Given the description of an element on the screen output the (x, y) to click on. 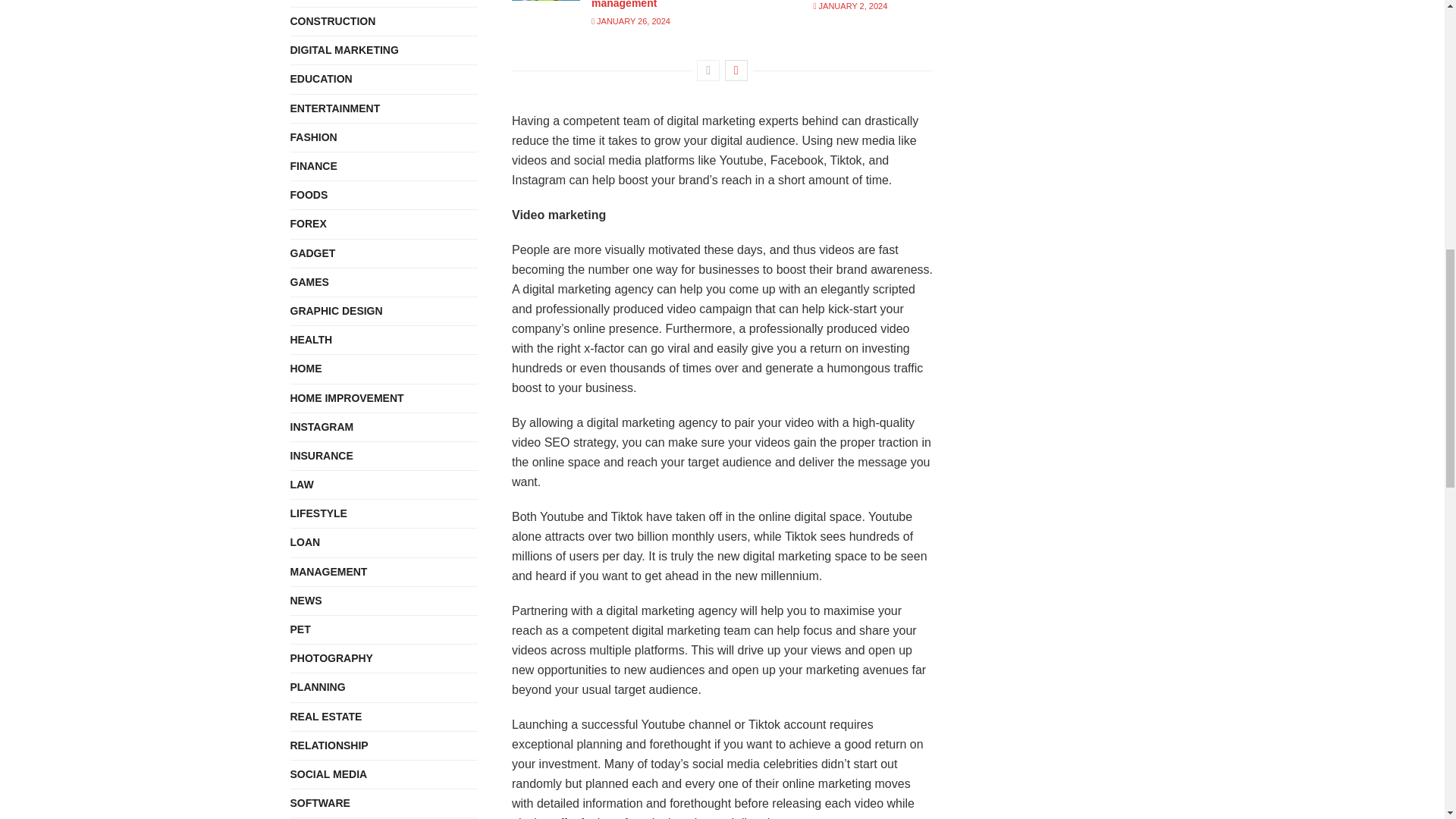
Previous (708, 70)
Next (736, 70)
